Given the description of an element on the screen output the (x, y) to click on. 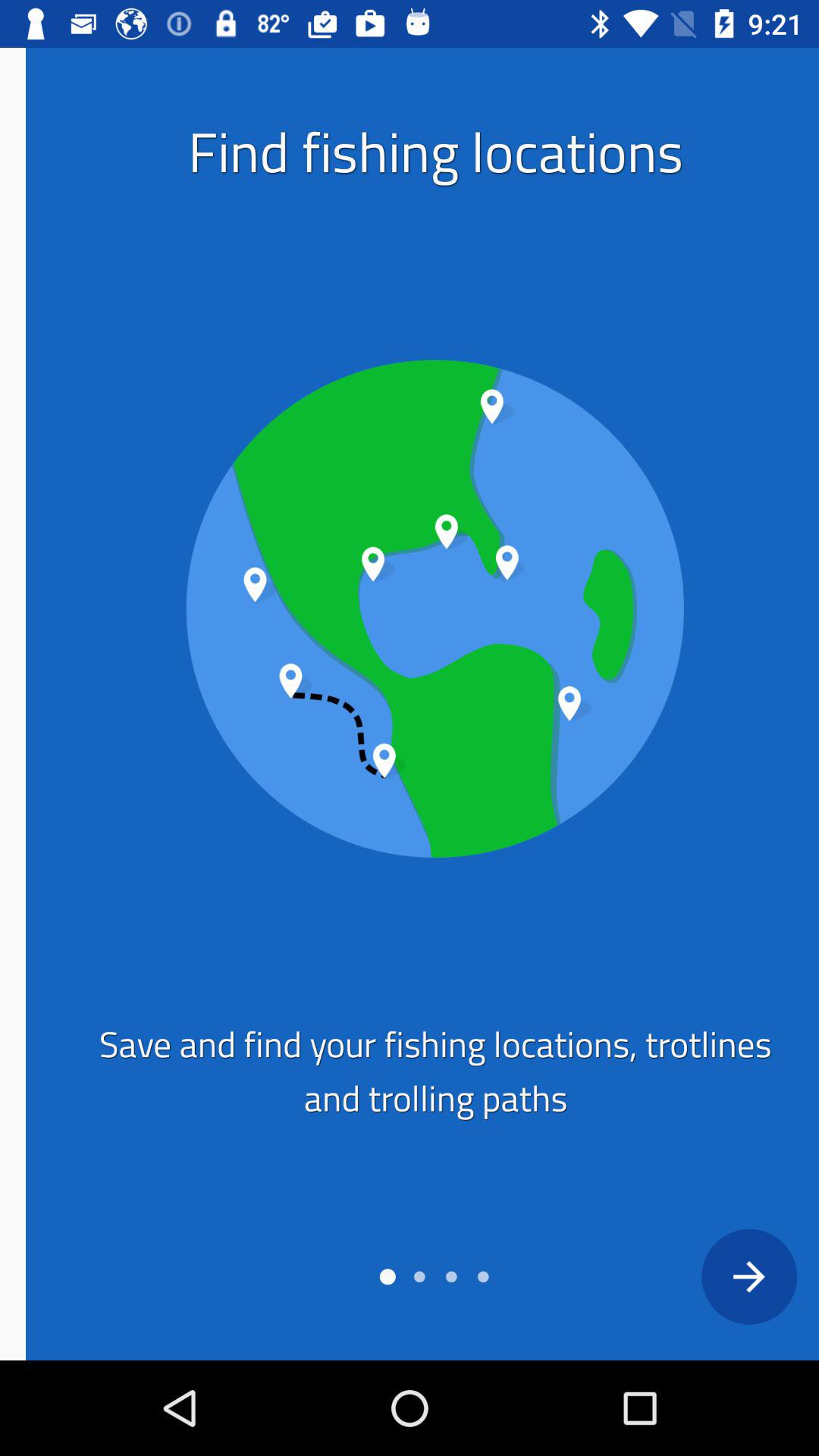
go to image (409, 608)
